Given the description of an element on the screen output the (x, y) to click on. 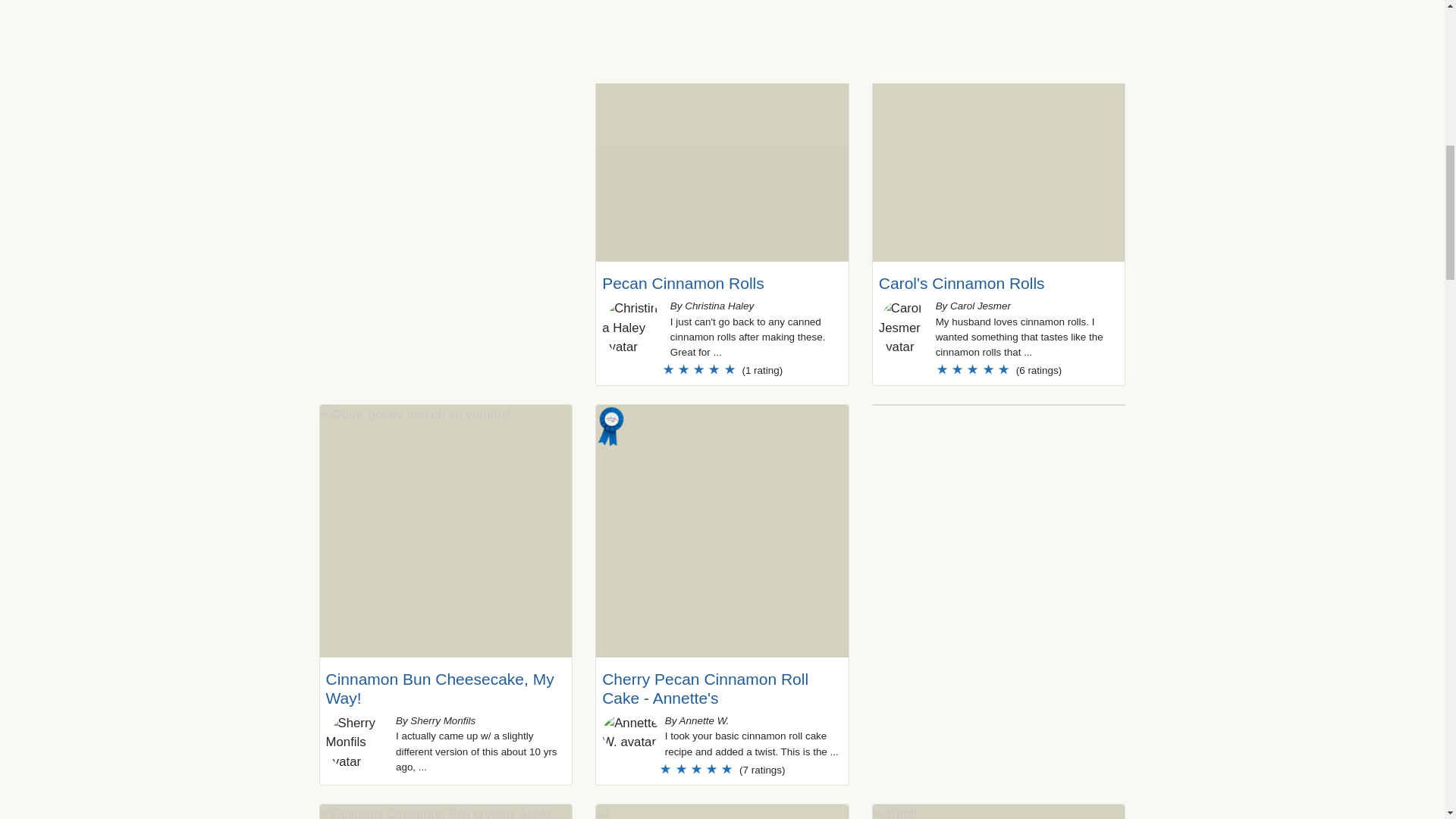
Christina Haley (632, 327)
5 (998, 369)
5 (721, 769)
Carol's Cinnamon Rolls (962, 282)
Cinnamon Bun Cheesecake, My Way! (440, 688)
Cherry Pecan Cinnamon Roll Cake - Annette's (705, 688)
5 (722, 369)
Pecan Cinnamon Rolls (683, 282)
Annette W. (630, 732)
Sherry Monfils (358, 742)
